Given the description of an element on the screen output the (x, y) to click on. 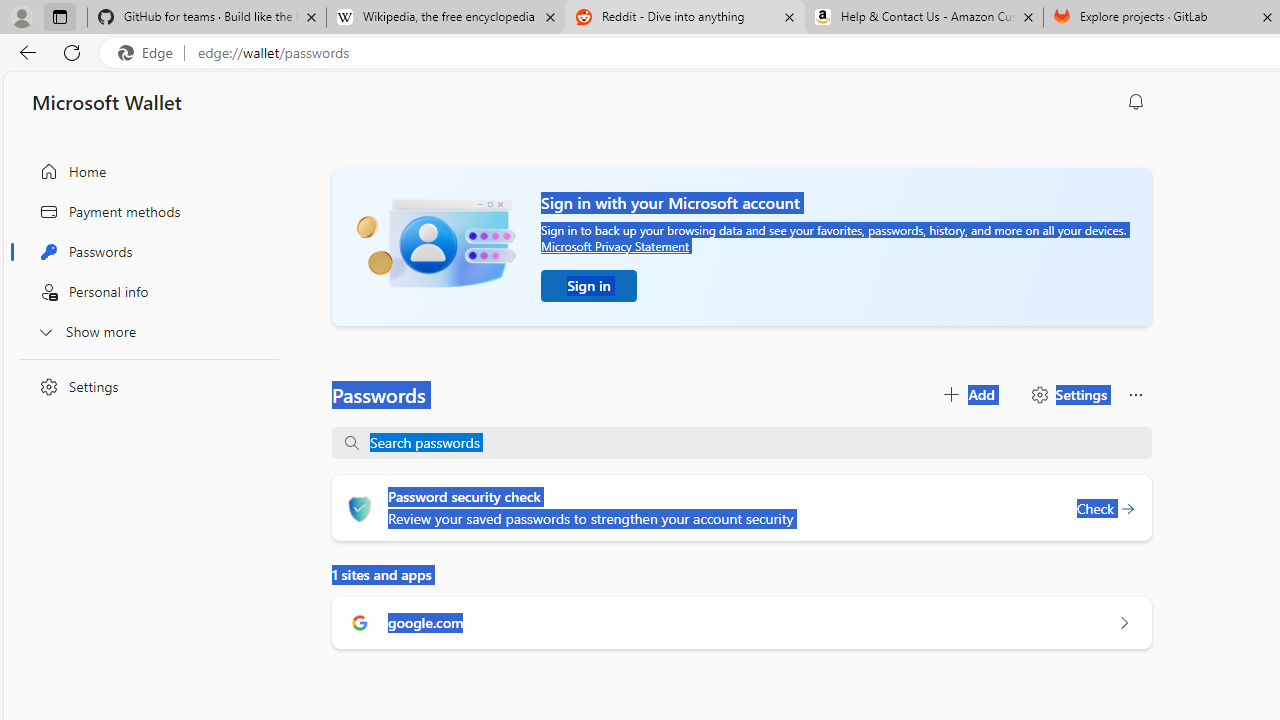
Show more (143, 331)
Edge (150, 53)
Microsoft Privacy Statement (614, 246)
Help & Contact Us - Amazon Customer Service (924, 17)
Wikipedia, the free encyclopedia (445, 17)
Notification (1136, 101)
Personal info (143, 292)
google.com, see details (1124, 622)
Sign in (589, 285)
Search passwords (752, 442)
